Given the description of an element on the screen output the (x, y) to click on. 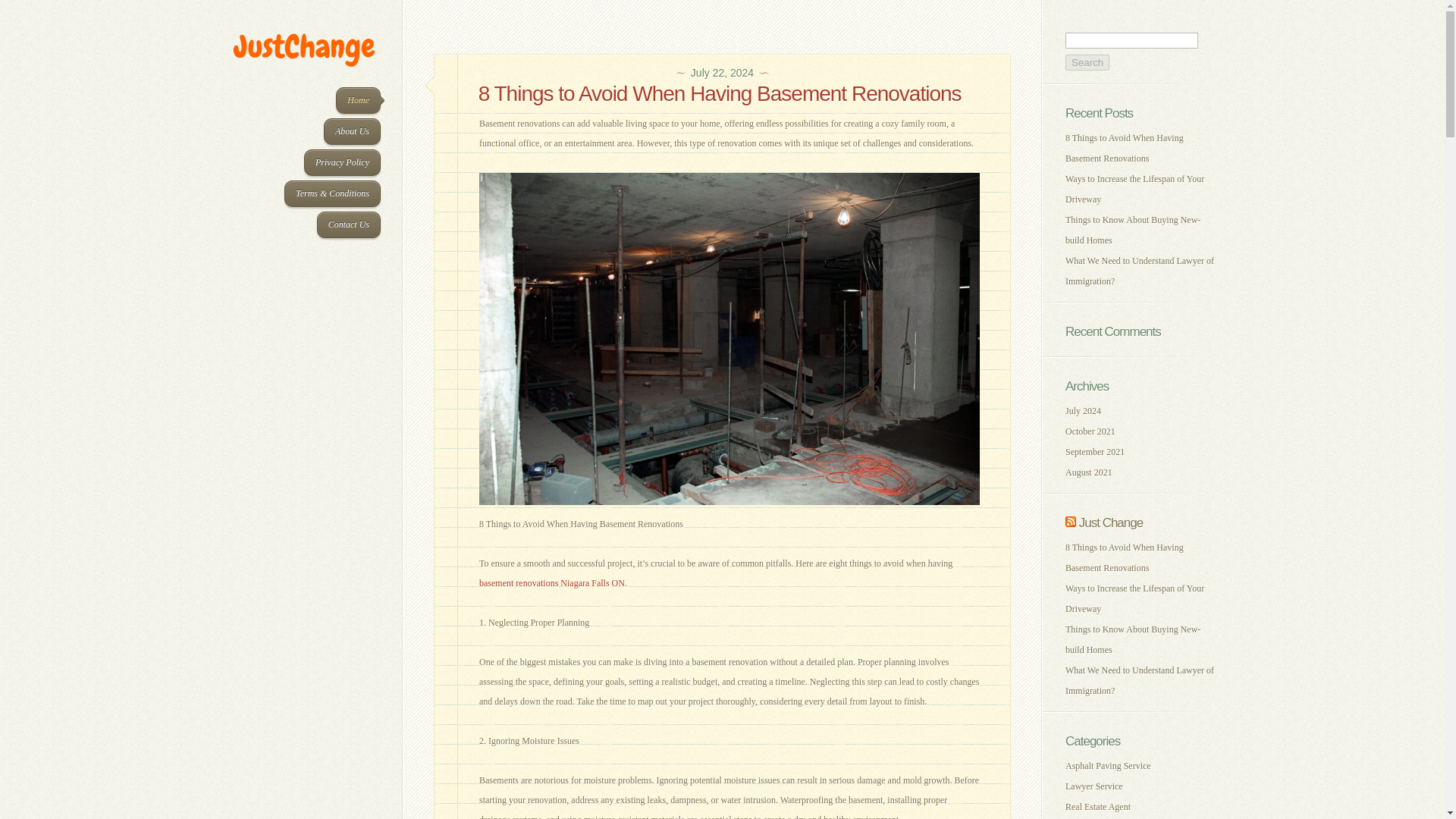
Things to Know About Buying New-build Homes (1132, 229)
Search (1087, 62)
Ways to Increase the Lifespan of Your Driveway (1134, 188)
Search (1087, 62)
About Us (351, 130)
Home (358, 99)
Privacy Policy (342, 162)
8 Things to Avoid When Having Basement Renovations  (1124, 147)
8 Things to Avoid When Having Basement Renovations  (722, 93)
basement renovations Niagara Falls ON (551, 583)
Contact Us (348, 224)
